Given the description of an element on the screen output the (x, y) to click on. 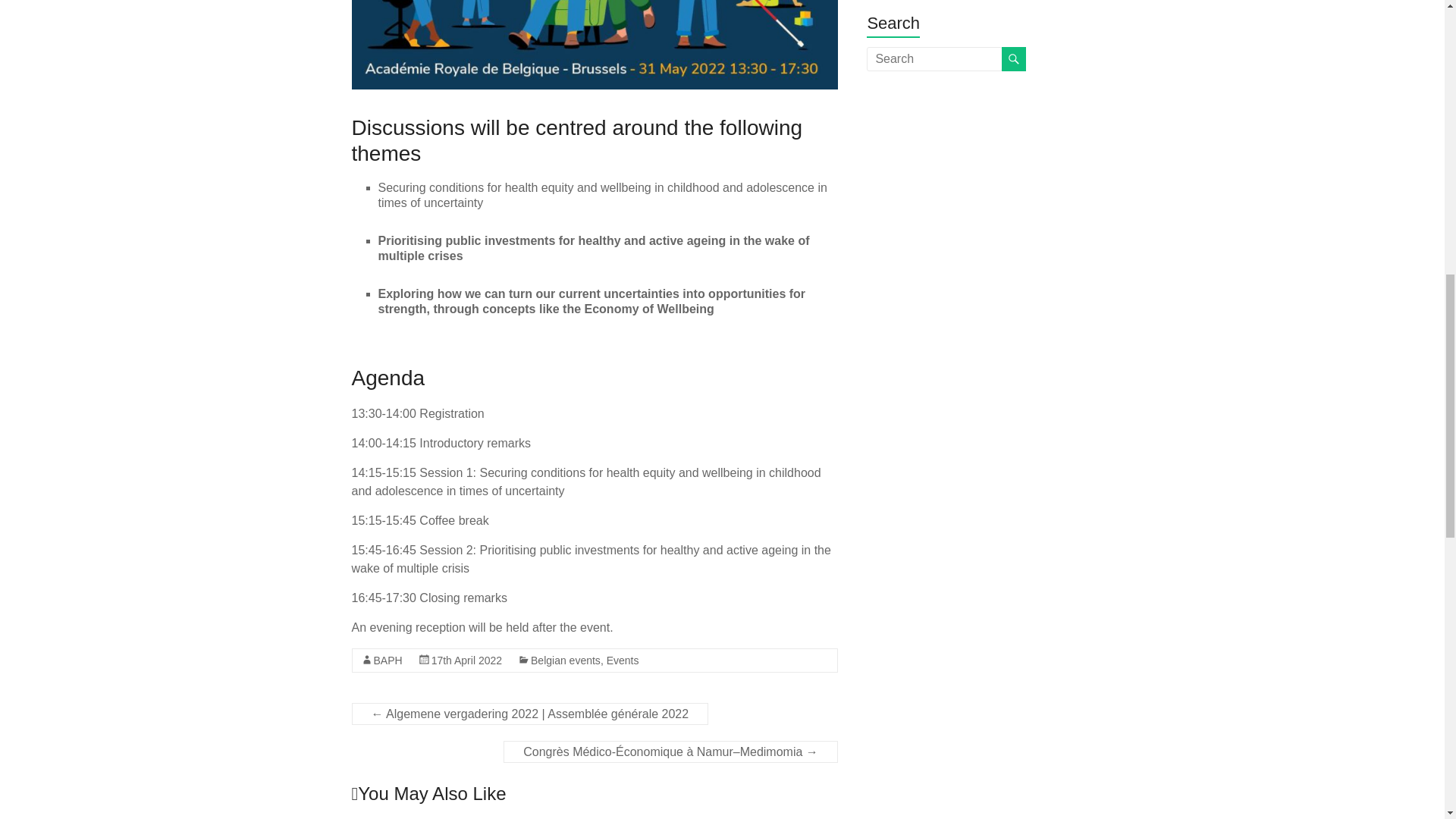
17th April 2022 (466, 660)
4:08 pm (466, 660)
Events (623, 660)
Belgian events (565, 660)
BAPH (386, 660)
